Given the description of an element on the screen output the (x, y) to click on. 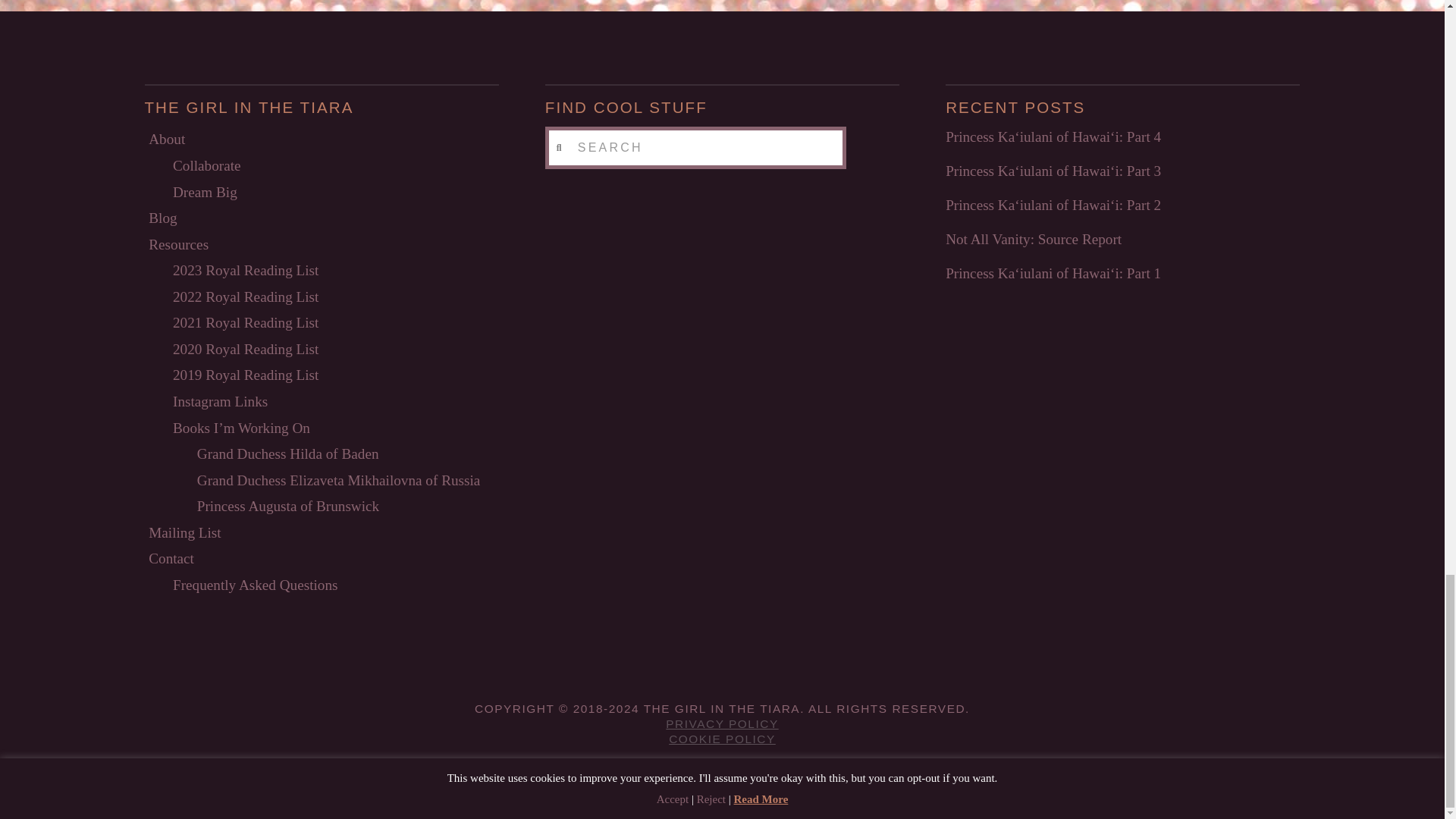
Facebook (583, 775)
LinkedIn (721, 775)
YouTube (790, 775)
Instagram (860, 775)
